Given the description of an element on the screen output the (x, y) to click on. 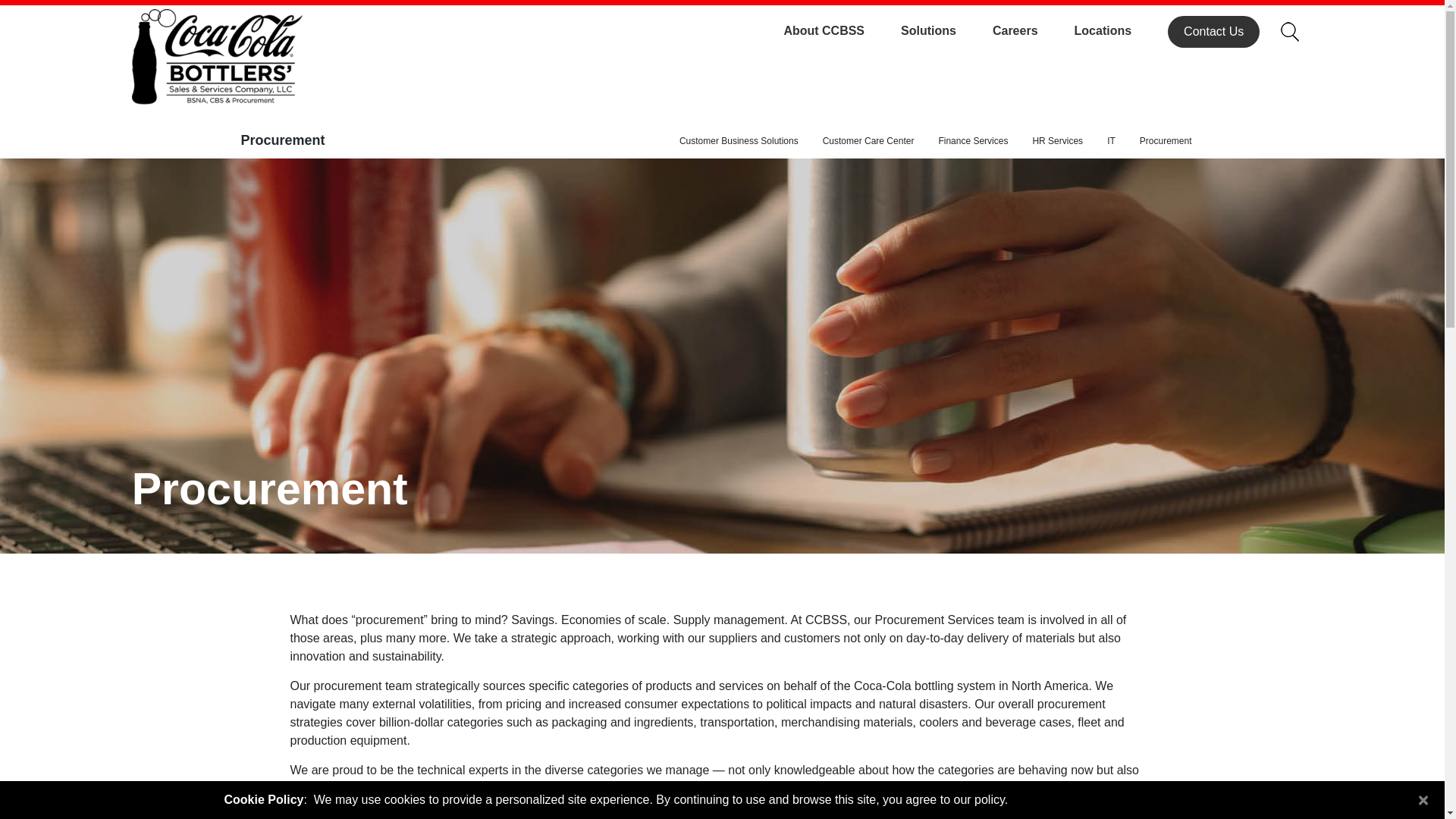
Customer Business Solutions (738, 141)
About CCBSS (842, 30)
Solutions (946, 30)
Careers (1033, 30)
Careers (1033, 30)
Finance Services (973, 141)
Customer Care Center (868, 141)
Contact Us (1213, 31)
Procurement (1165, 141)
HR Services (1057, 141)
Solutions (946, 30)
IT (1110, 141)
Locations (1121, 30)
About CCBSS (842, 30)
